Given the description of an element on the screen output the (x, y) to click on. 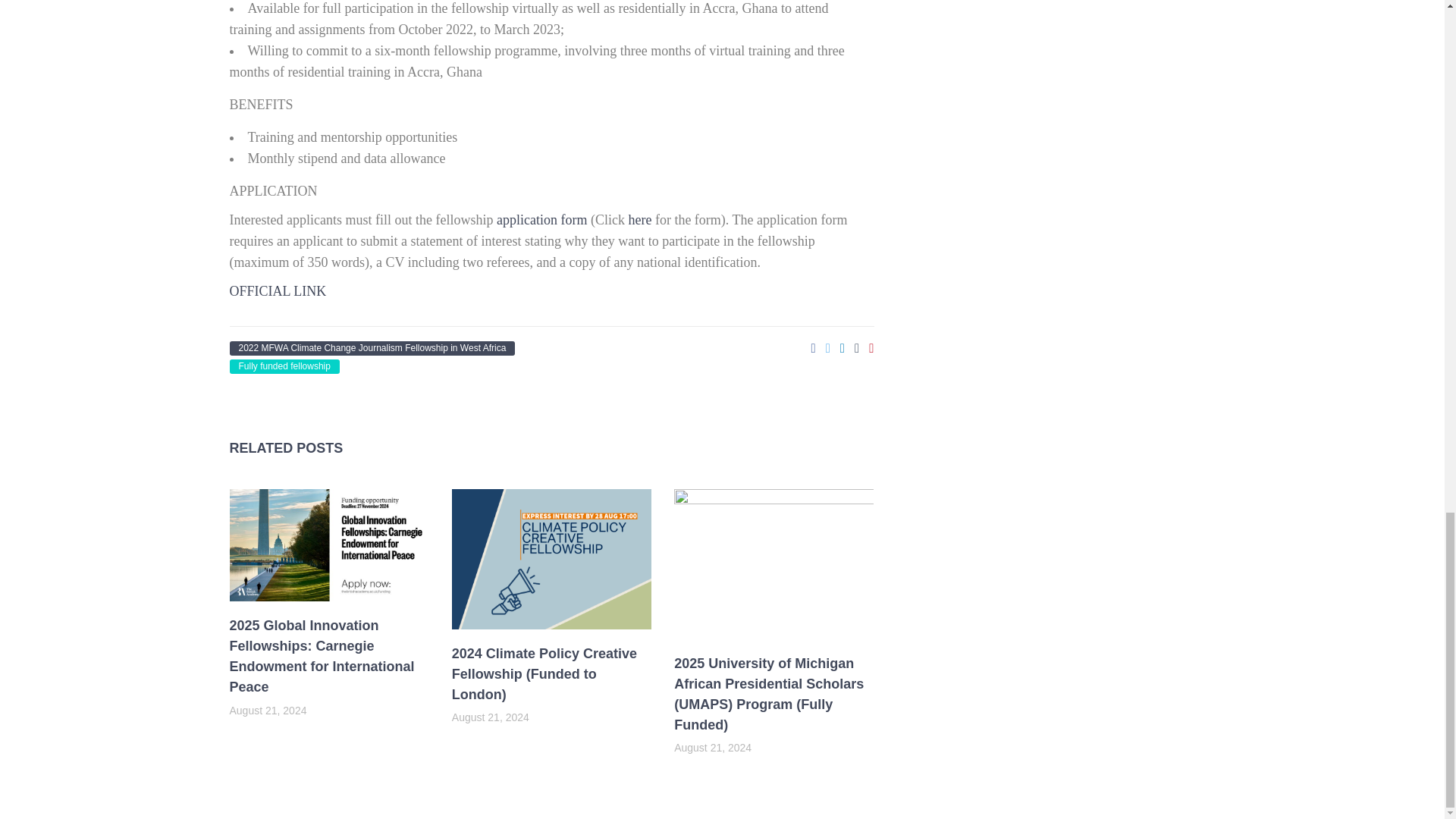
here (638, 219)
application form (541, 219)
August 21, 2024 (712, 747)
August 21, 2024 (266, 710)
August 21, 2024 (490, 717)
OFFICIAL LINK (277, 290)
Fully funded fellowship (283, 366)
